Given the description of an element on the screen output the (x, y) to click on. 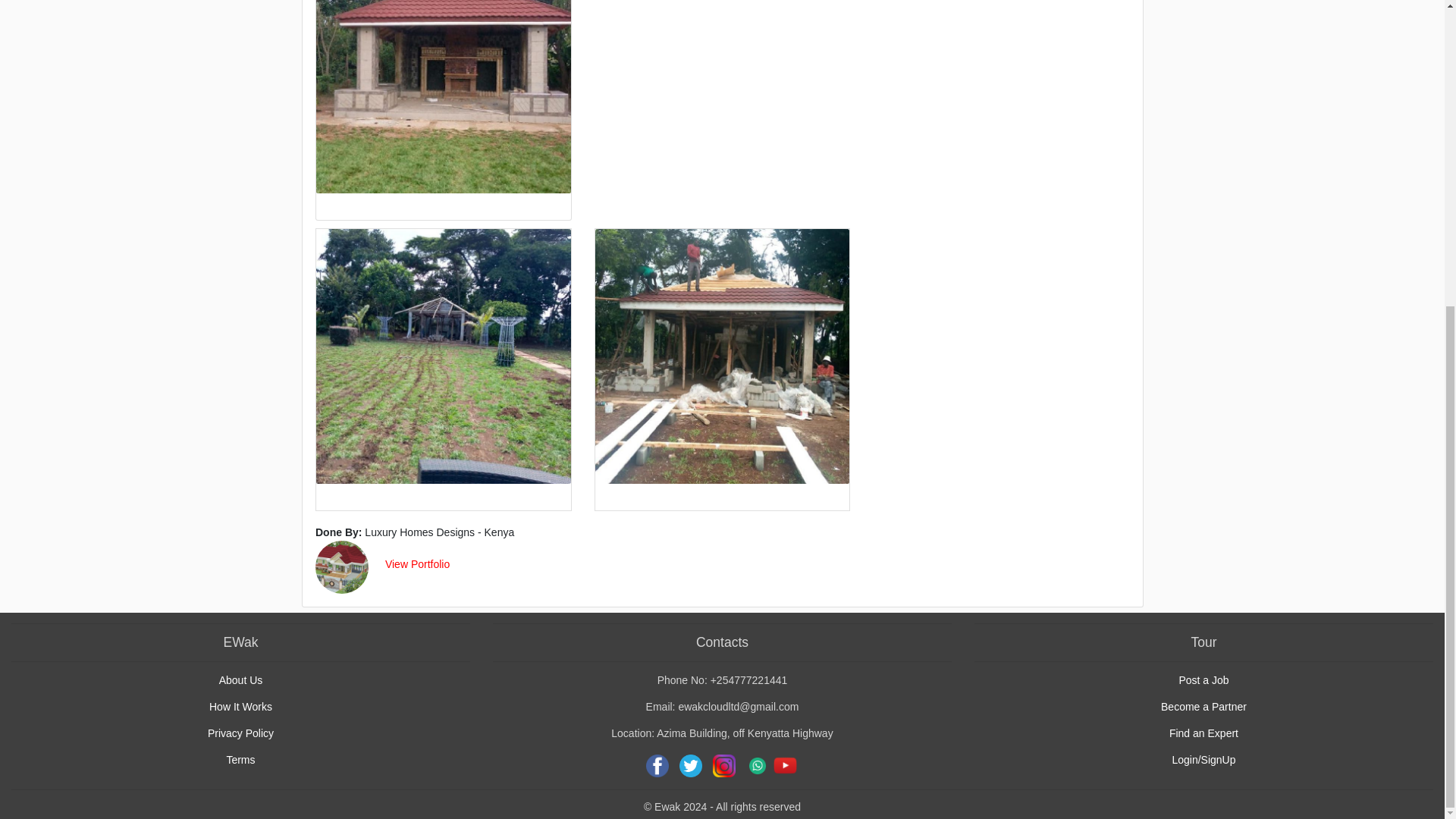
Terms (239, 759)
About Us (241, 680)
Privacy Policy (240, 733)
How It Works (240, 706)
View Portfolio (417, 563)
